Given the description of an element on the screen output the (x, y) to click on. 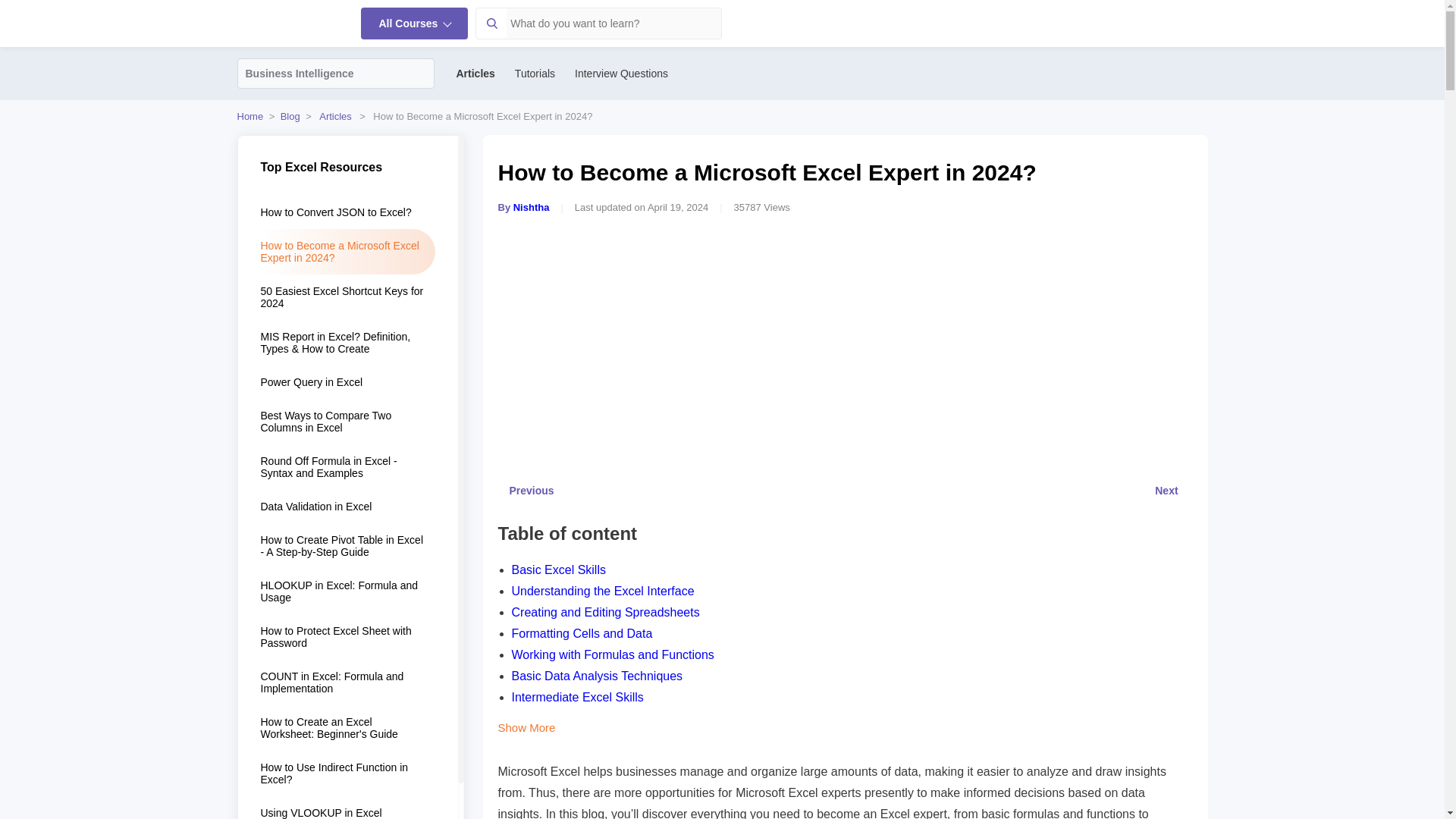
Nishtha (531, 206)
COUNT in Excel: Formula and Implementation (347, 682)
Blog (290, 116)
bookmark (1161, 211)
HLOOKUP in Excel: Formula and Usage (347, 591)
Home (249, 116)
Best Ways to Compare Two Columns in Excel (347, 421)
How to Become a Microsoft Excel Expert in 2024? (347, 251)
Round Off Formula in Excel - Syntax and Examples (347, 466)
share (1185, 211)
50 Easiest Excel Shortcut Keys for 2024 (347, 297)
How to Create an Excel Worksheet: Beginner's Guide (347, 728)
Using VLOOKUP in Excel (347, 807)
How to Convert JSON to Excel? (347, 212)
How to Protect Excel Sheet with Password (347, 637)
